Given the description of an element on the screen output the (x, y) to click on. 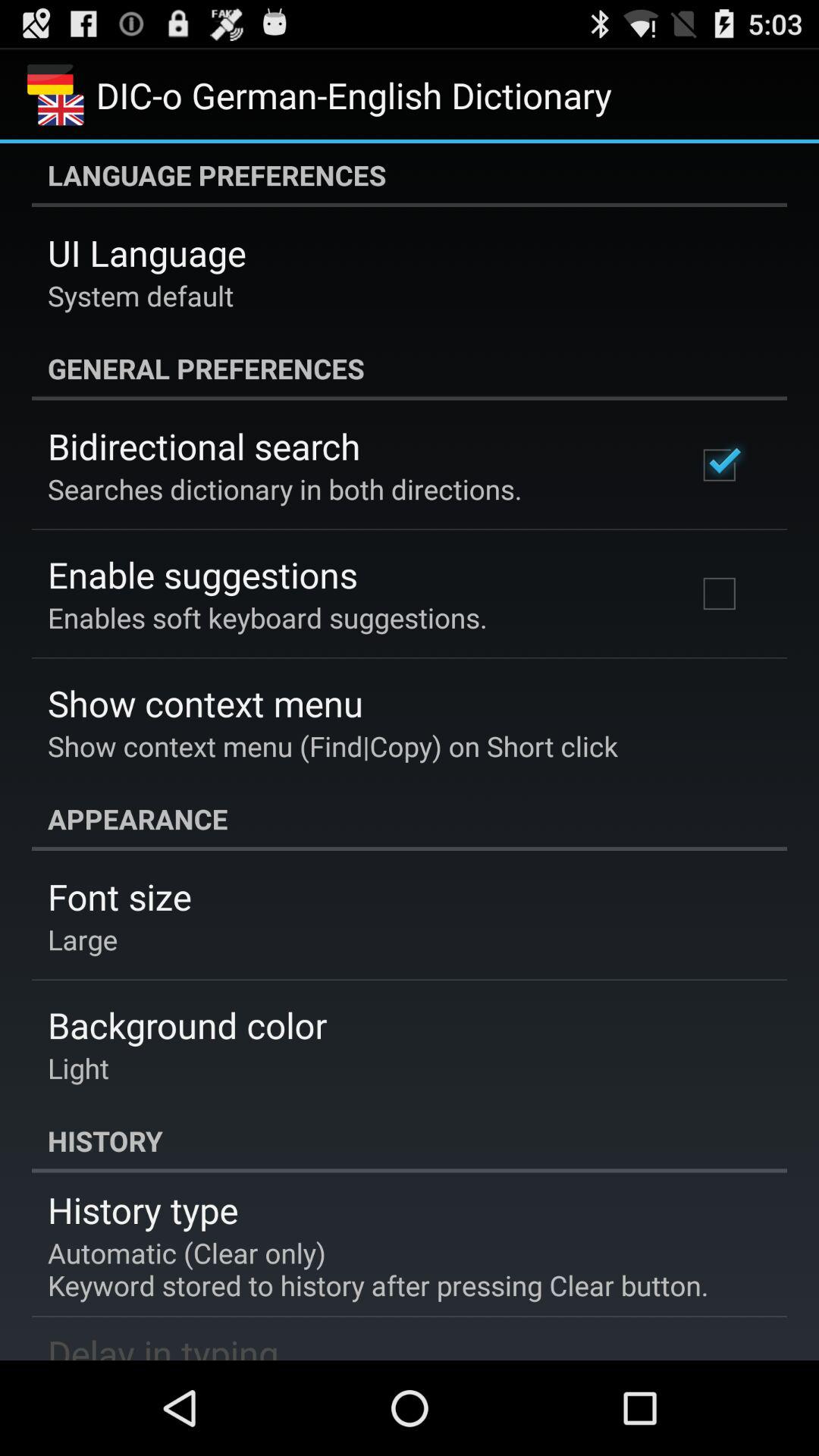
choose light icon (78, 1067)
